Given the description of an element on the screen output the (x, y) to click on. 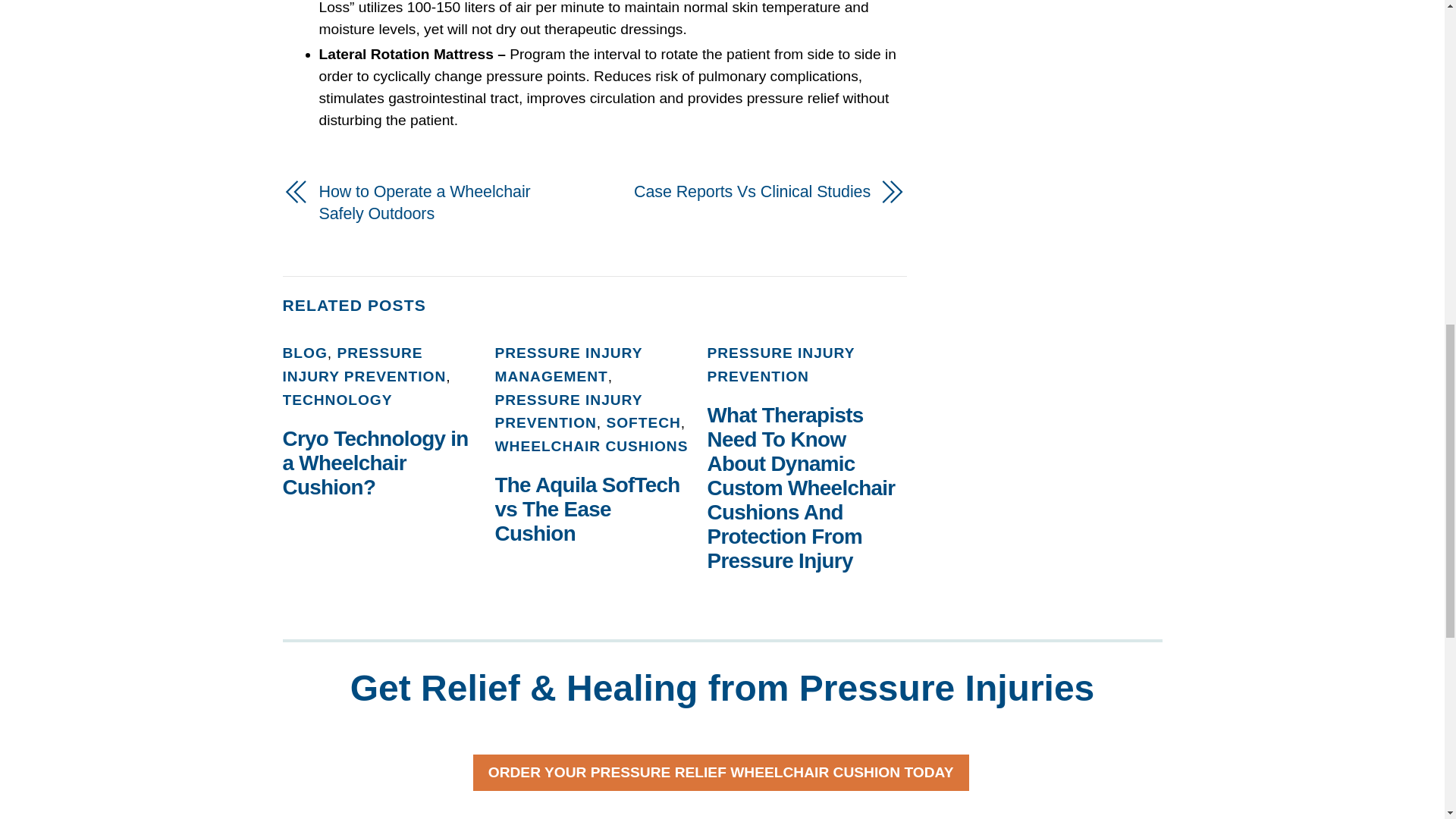
The Aquila SofTech vs The Ease Cushion (587, 509)
TECHNOLOGY (336, 399)
Case Reports Vs Clinical Studies (741, 191)
Cryo Technology in a Wheelchair Cushion? (374, 462)
BLOG (304, 352)
How to Operate a Wheelchair Safely Outdoors (446, 202)
PRESSURE INJURY PREVENTION (363, 364)
